Given the description of an element on the screen output the (x, y) to click on. 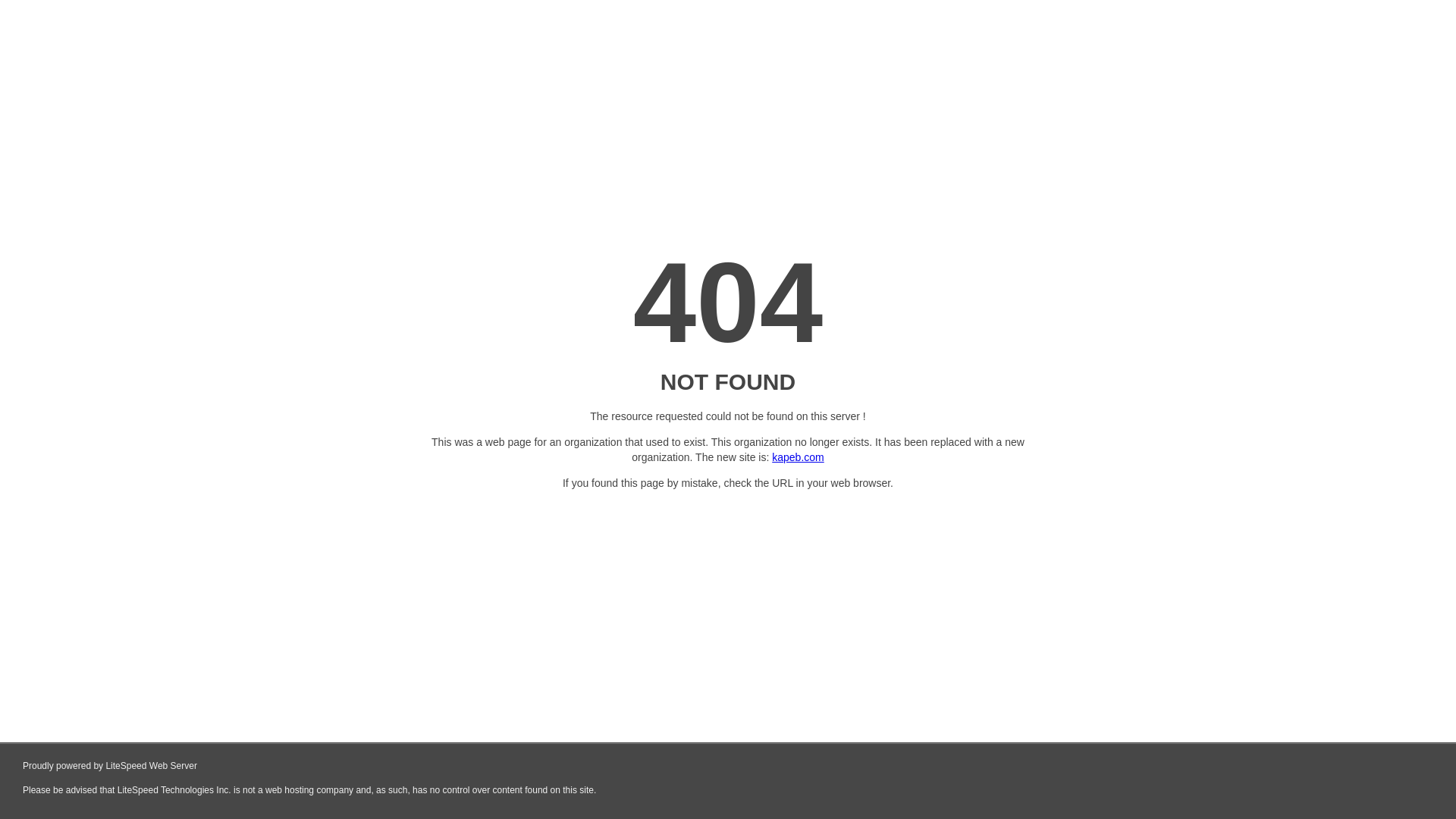
kapeb.com (797, 457)
